Given the description of an element on the screen output the (x, y) to click on. 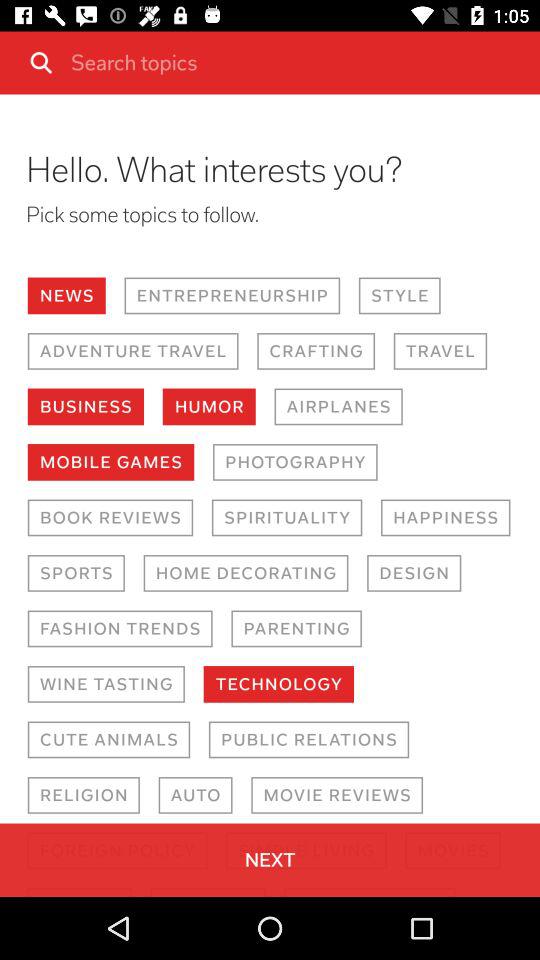
select item to the right of the spirituality (445, 517)
